Given the description of an element on the screen output the (x, y) to click on. 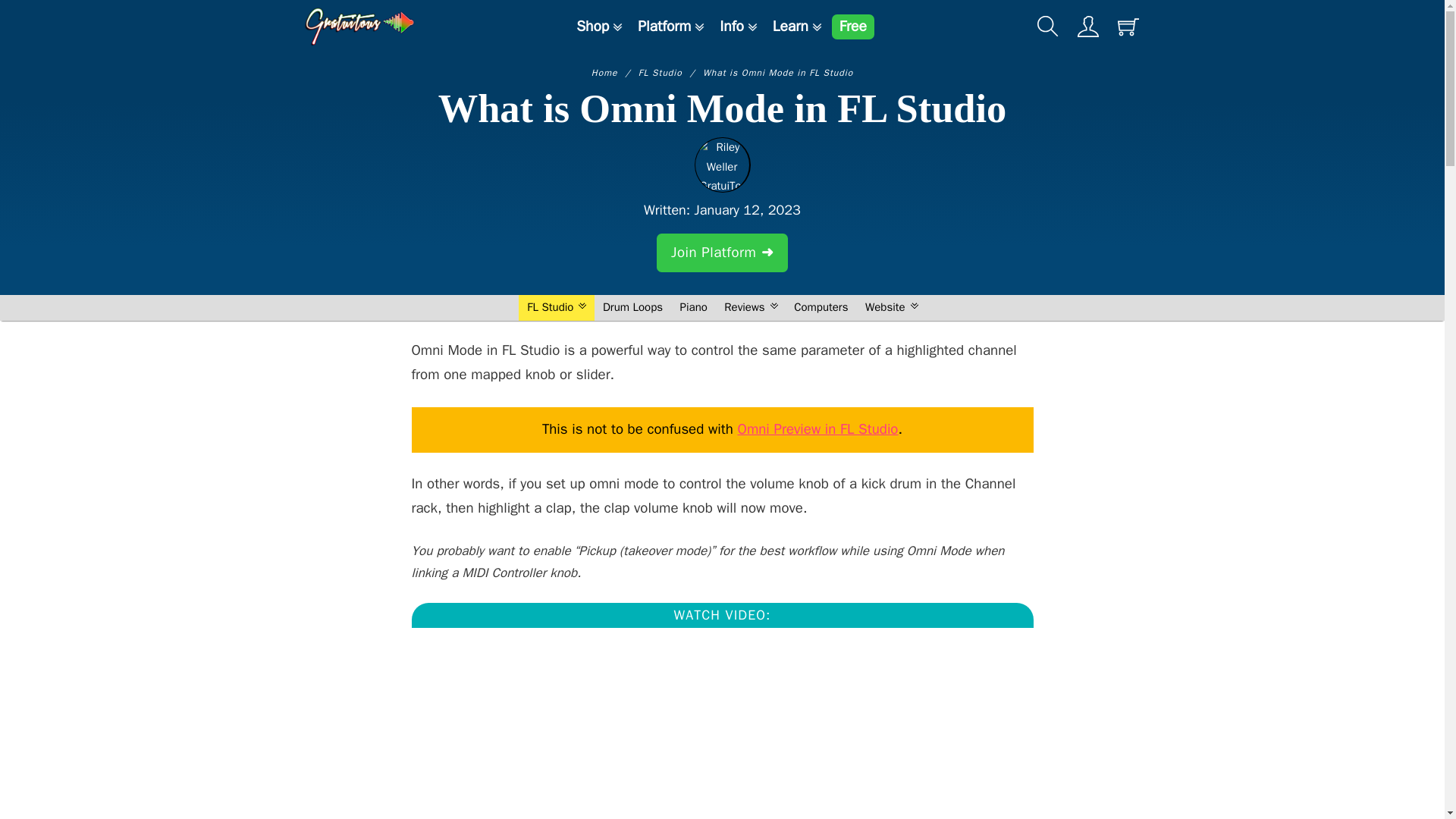
Shop (592, 26)
Free (853, 26)
Learn (790, 26)
Info (731, 26)
Platform (664, 26)
